Given the description of an element on the screen output the (x, y) to click on. 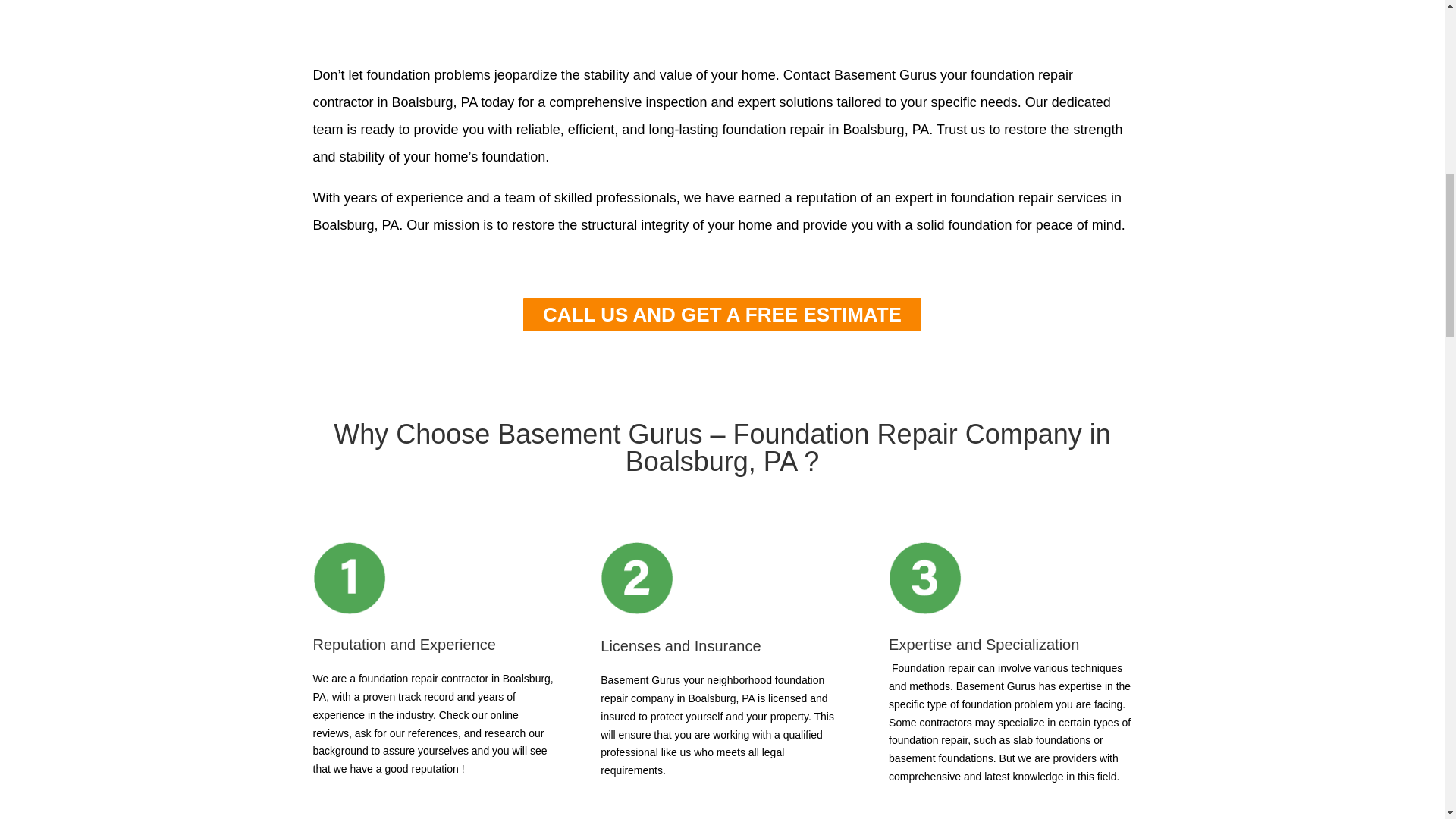
3-02 (924, 578)
1-02 (349, 578)
2-02 (635, 578)
